Given the description of an element on the screen output the (x, y) to click on. 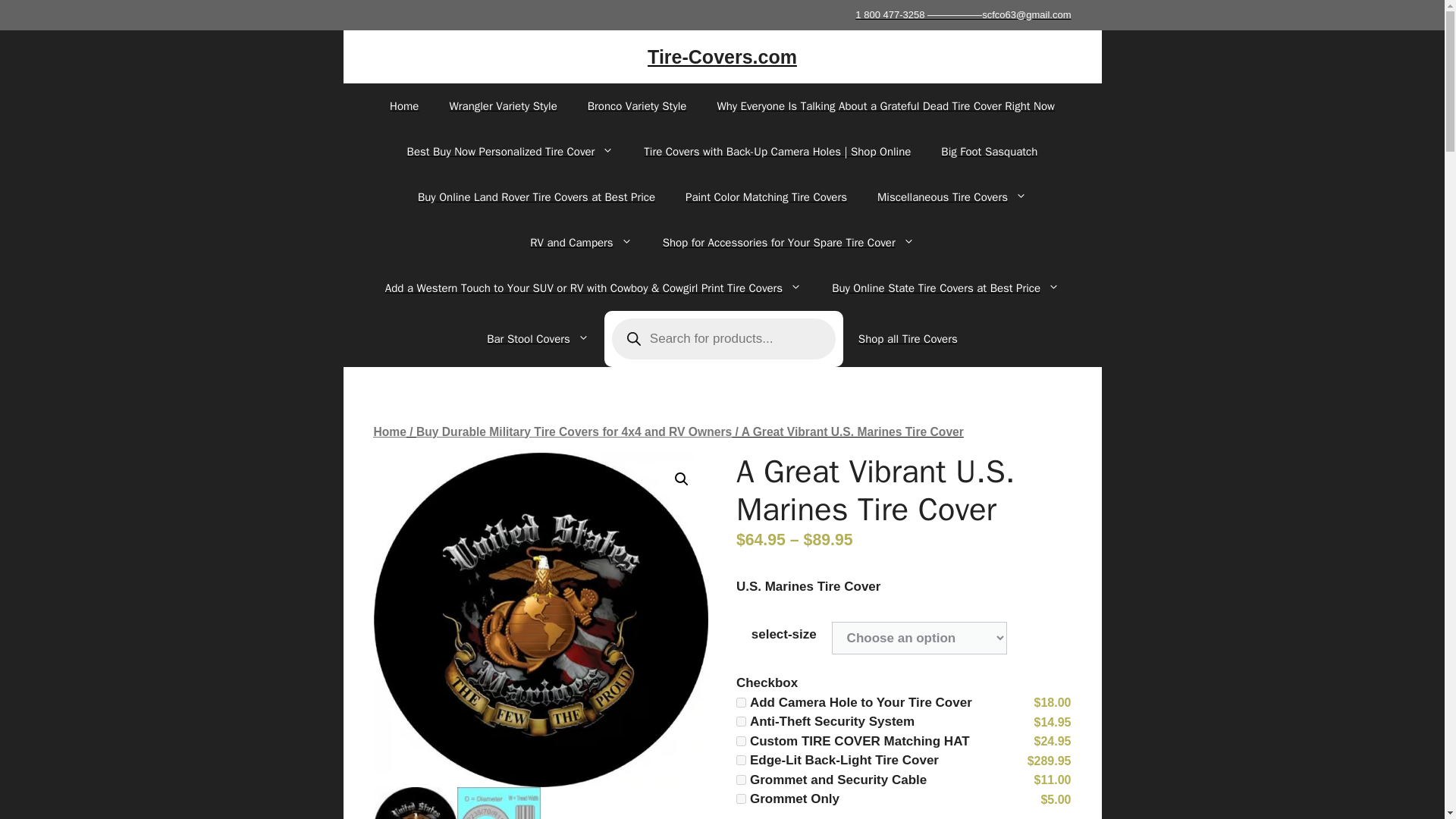
4 (740, 759)
1 (740, 702)
Miscellaneous Tire Covers (951, 197)
RV and Campers (580, 242)
Big Foot Sasquatch (989, 151)
6 (740, 798)
Tire-Covers.com (721, 55)
Best Buy Now Personalized Tire Cover (509, 151)
Buy Online Land Rover Tire Covers at Best Price (536, 197)
Home (403, 105)
thefewtheproud (539, 619)
Paint Color Matching Tire Covers (765, 197)
5 (740, 779)
Wrangler Variety Style (502, 105)
